Given the description of an element on the screen output the (x, y) to click on. 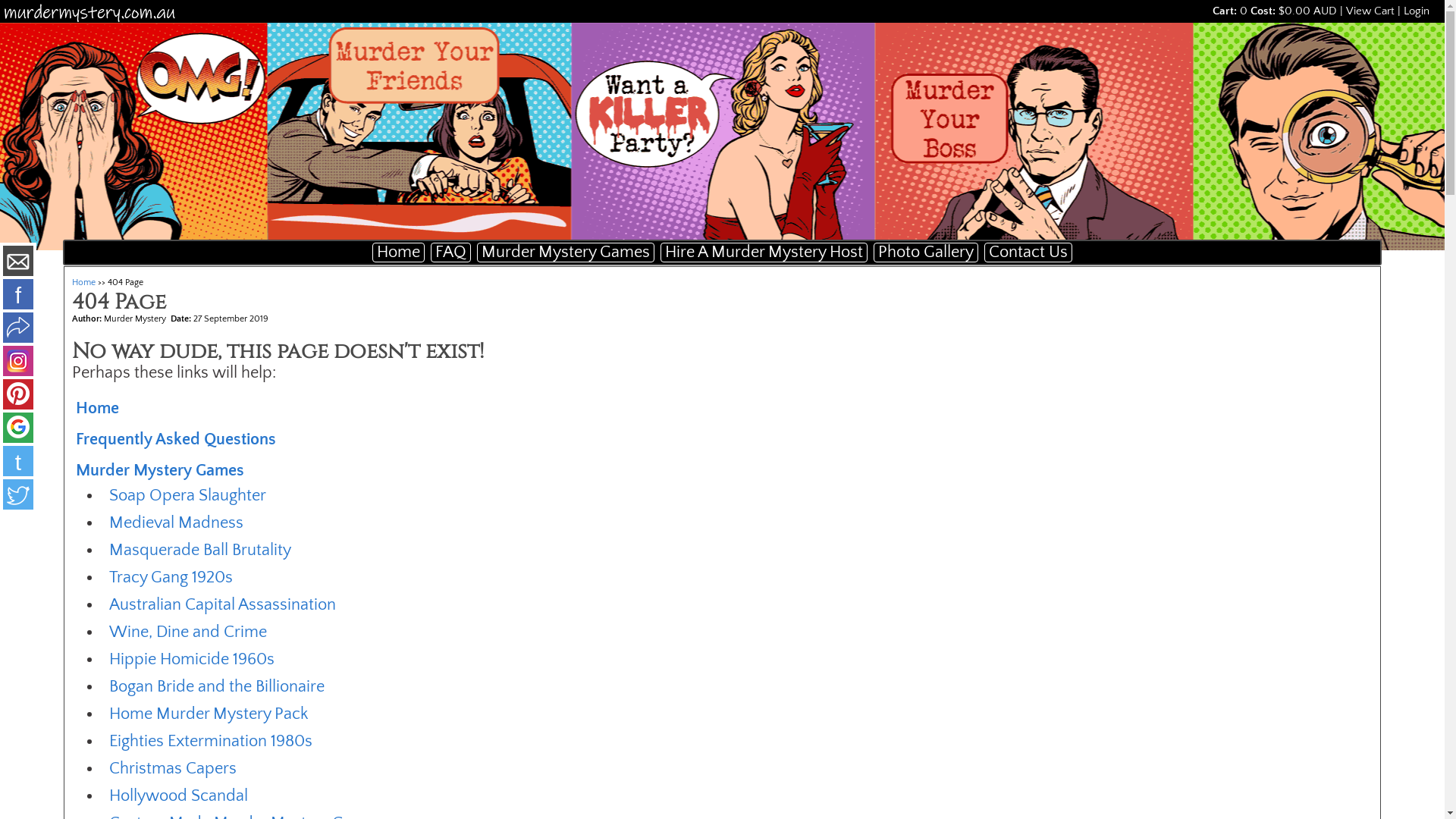
Home Element type: text (398, 251)
Wine, Dine and Crime Element type: text (187, 631)
Medieval Madness Element type: text (176, 522)
Share on Facebook Element type: hover (17, 328)
Bogan Bride and the Billionaire Element type: text (216, 686)
Login Element type: text (1416, 10)
Eighties Extermination 1980s Element type: text (210, 740)
Tracy Gang 1920s Element type: text (170, 576)
Photo Gallery Element type: text (925, 251)
Christmas Capers Element type: text (172, 768)
t Element type: text (18, 461)
Hollywood Scandal Element type: text (178, 795)
Murder Mystery Games Element type: text (565, 251)
Frequently Asked Questions Element type: text (175, 438)
FAQ Element type: text (450, 252)
Contact Us Element type: text (1027, 251)
Masquerade Ball Brutality Element type: text (200, 549)
Murder Mystery Games Element type: text (565, 252)
Soap Opera Slaughter Element type: text (187, 495)
Hire A Murder Mystery Host Element type: text (763, 252)
Hippie Homicide 1960s Element type: text (191, 658)
View Cart Element type: text (1370, 10)
Hire A Murder Mystery Host Element type: text (763, 251)
Home Murder Mystery Pack Element type: text (208, 713)
Home Element type: text (83, 282)
Home Element type: text (398, 252)
FAQ Element type: text (450, 251)
Australian Capital Assassination Element type: text (222, 604)
Home Element type: text (97, 407)
Murder Mystery Games Element type: text (159, 470)
f Element type: text (18, 294)
Photo Gallery Element type: text (925, 252)
